Given the description of an element on the screen output the (x, y) to click on. 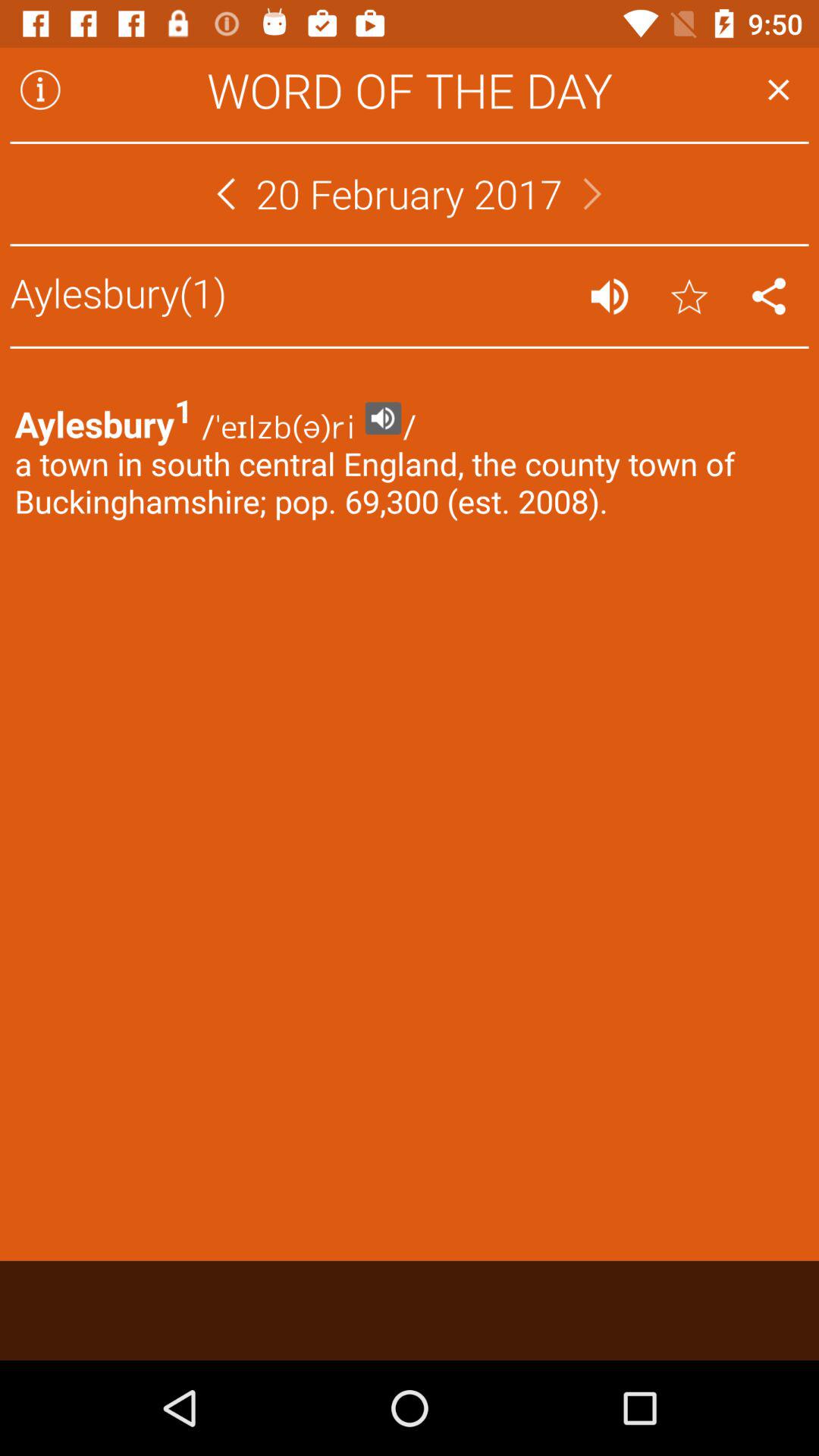
choose app next to 20 february 2017 item (225, 193)
